Given the description of an element on the screen output the (x, y) to click on. 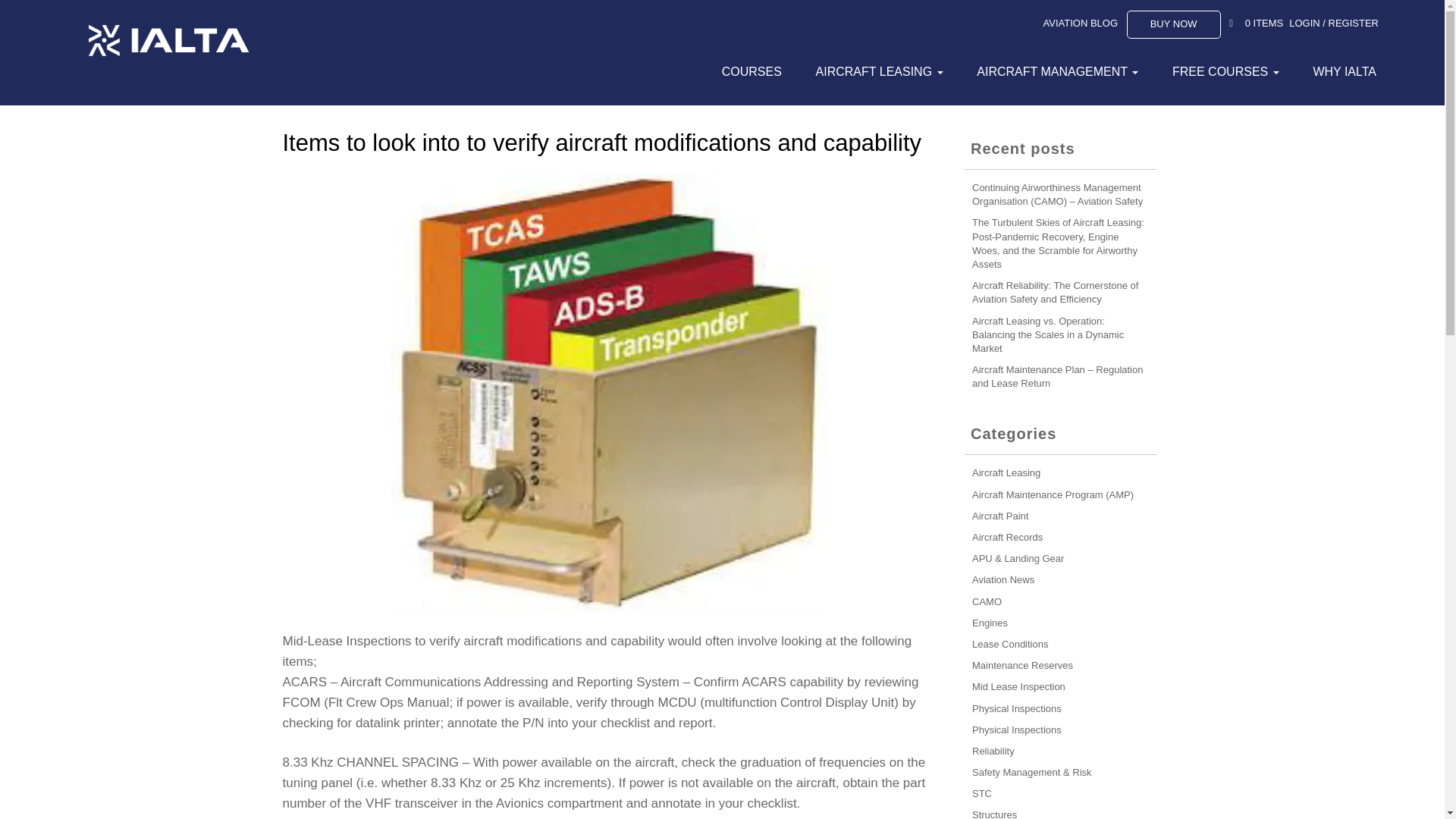
AIRCRAFT LEASING (875, 71)
AIRCRAFT MANAGEMENT (1053, 71)
COURSES (747, 71)
AVIATION BLOG (1080, 23)
0 ITEMS (1264, 23)
BUY NOW (1173, 24)
